Given the description of an element on the screen output the (x, y) to click on. 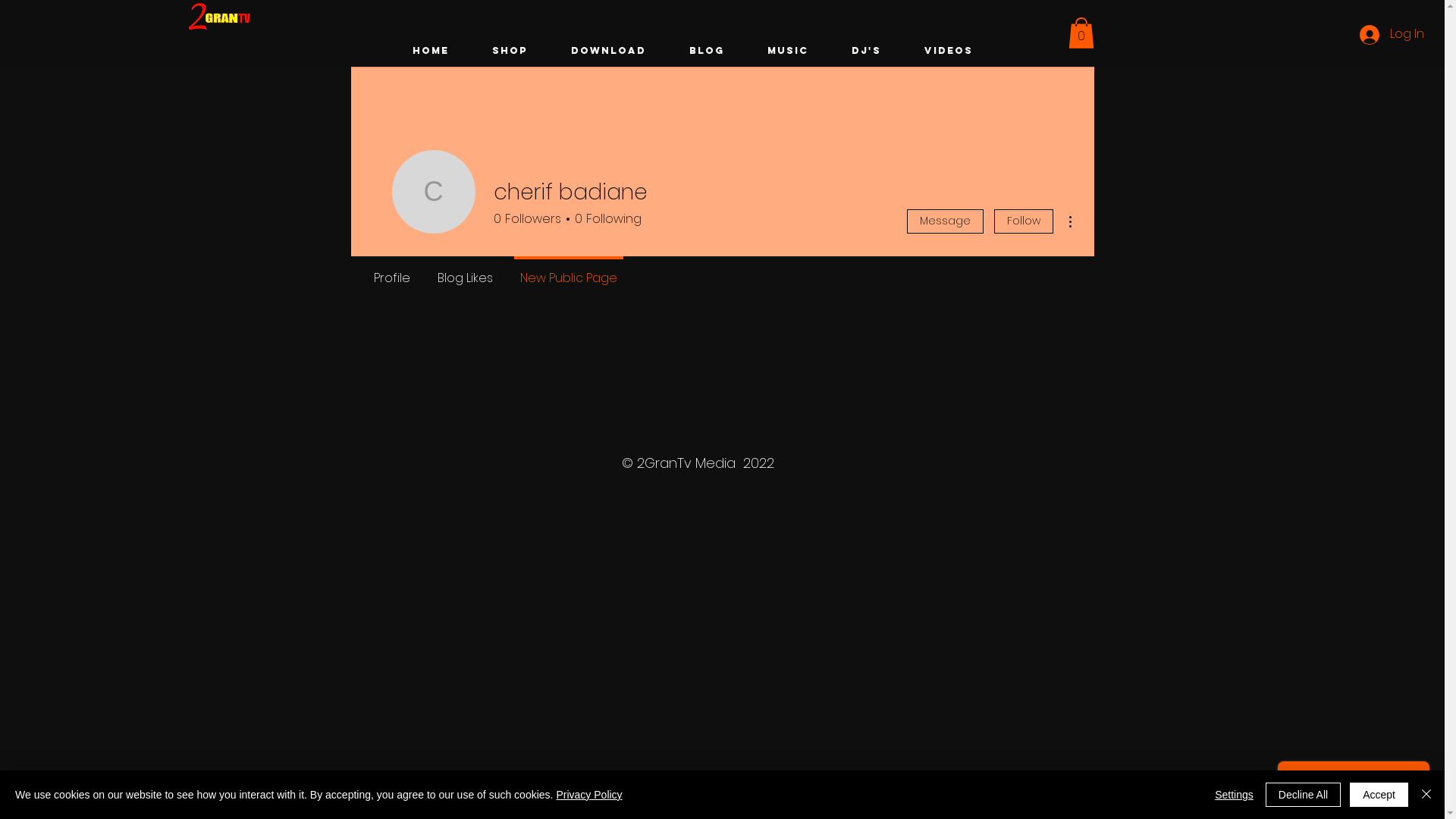
Videos Element type: text (947, 50)
Privacy Policy Element type: text (588, 794)
Accept Element type: text (1378, 794)
Log In Element type: text (1391, 33)
Download Element type: text (608, 50)
Profile Element type: text (391, 271)
New Public Page Element type: text (568, 271)
Shop Element type: text (509, 50)
Blog Likes Element type: text (464, 271)
0 Element type: text (1080, 32)
Home Element type: text (430, 50)
0
Following Element type: text (604, 218)
Decline All Element type: text (1302, 794)
Message Element type: text (944, 221)
0
Followers Element type: text (526, 218)
Music Element type: text (788, 50)
Follow Element type: text (1022, 221)
Dj's Element type: text (865, 50)
Blog Element type: text (706, 50)
